Given the description of an element on the screen output the (x, y) to click on. 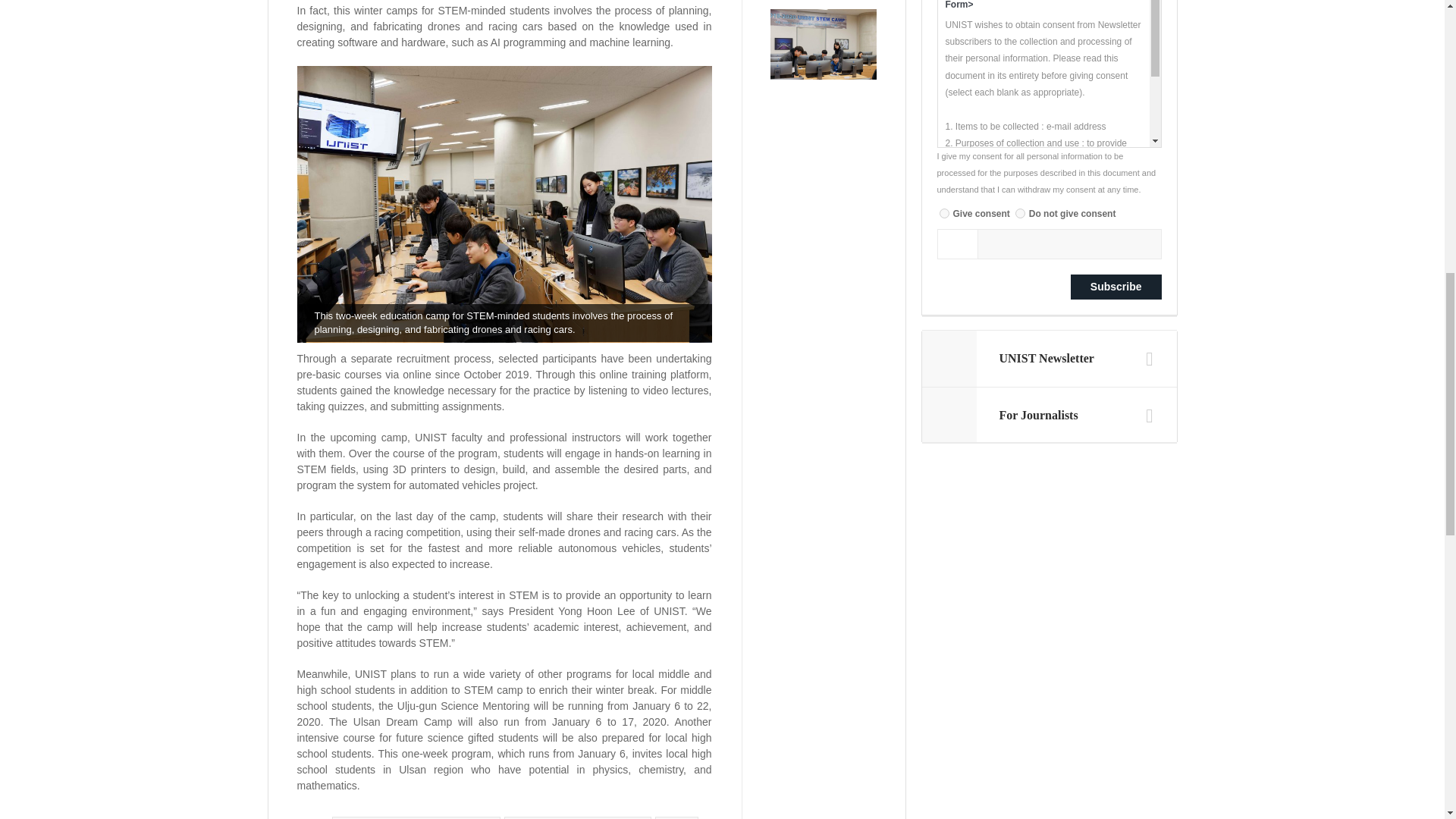
agree (944, 213)
Subscribe (1115, 286)
